Given the description of an element on the screen output the (x, y) to click on. 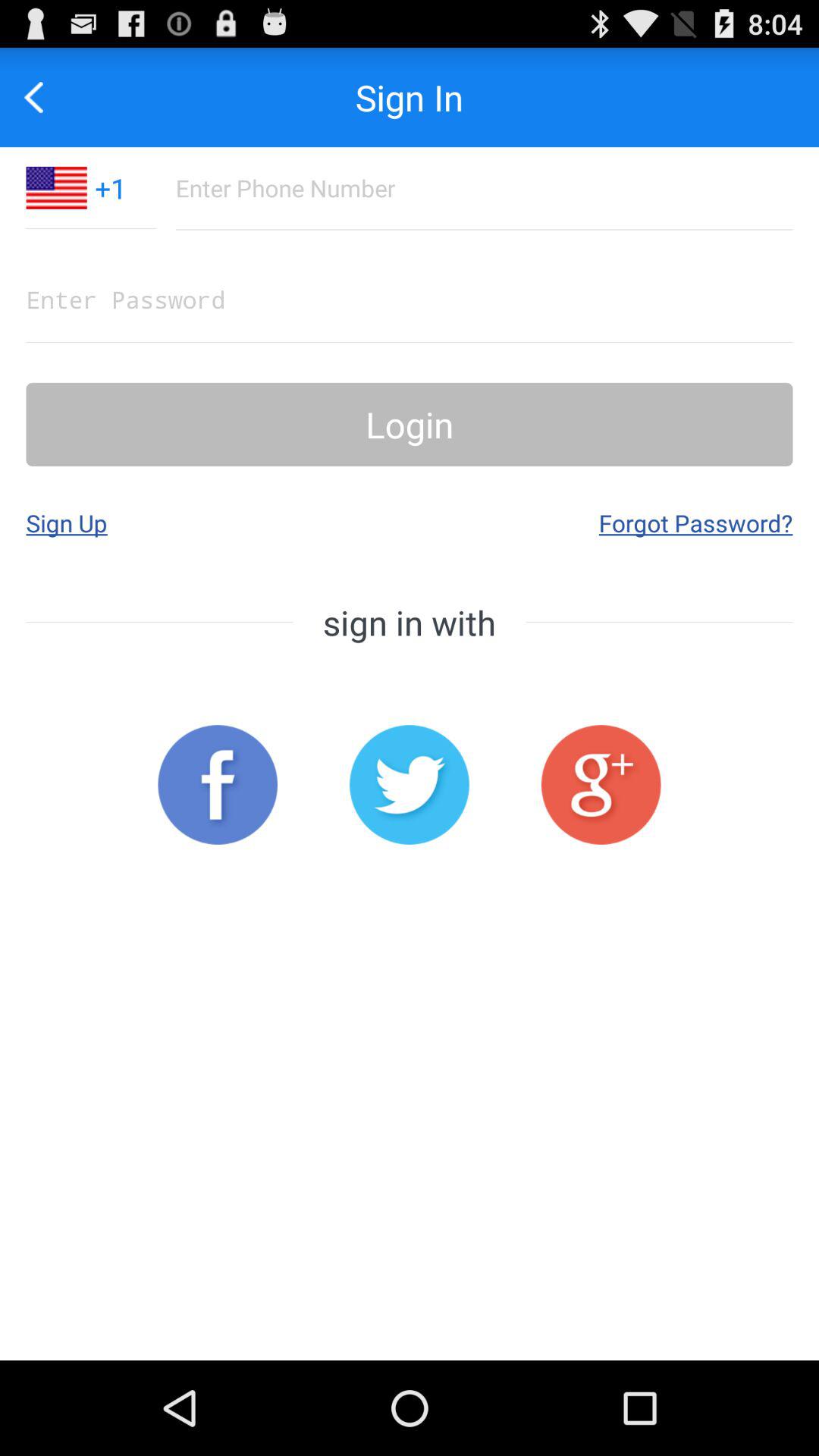
select app to the right of sign up (695, 522)
